Given the description of an element on the screen output the (x, y) to click on. 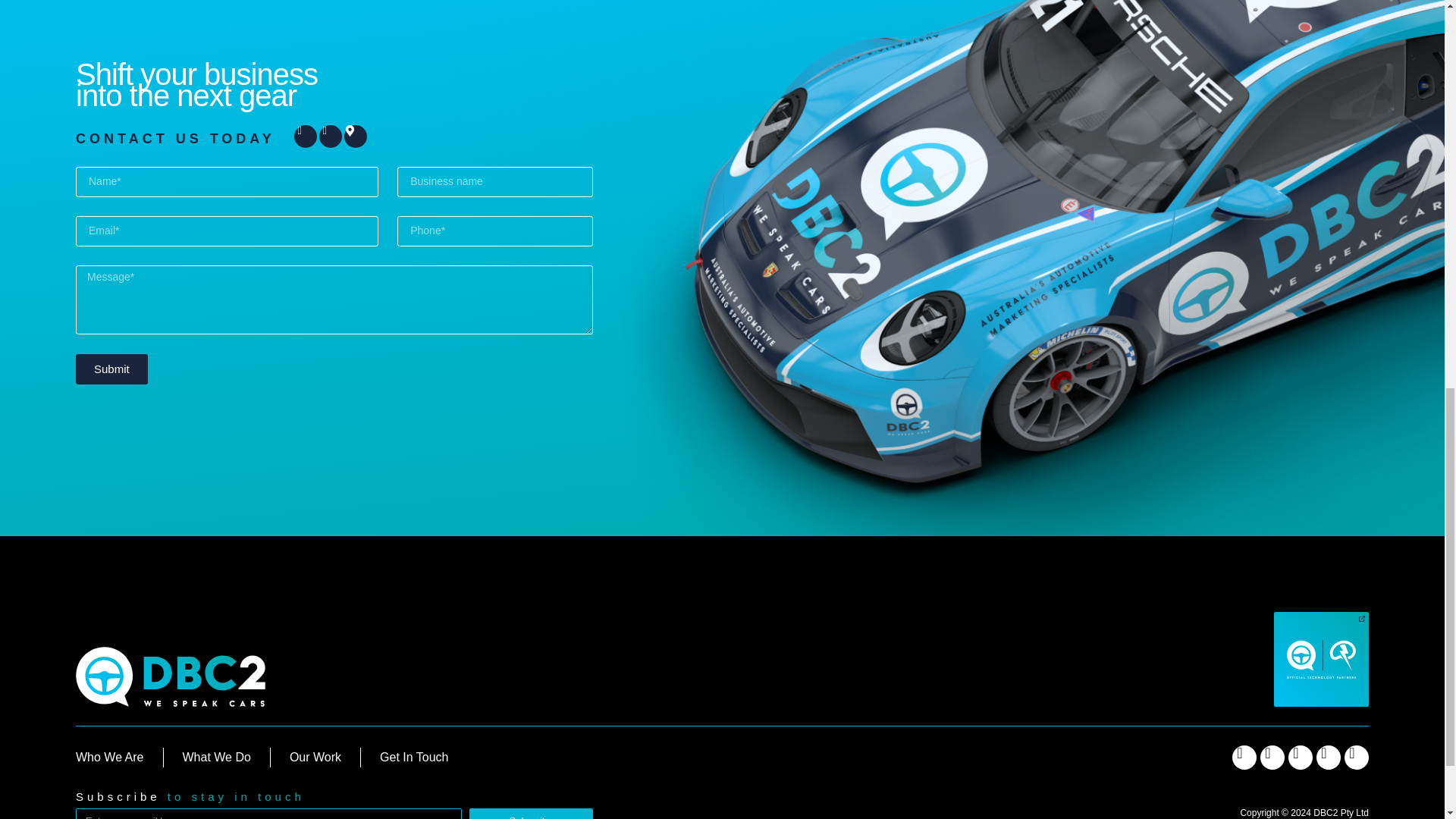
What We Do (216, 757)
Submit (111, 368)
Who We Are (109, 757)
